Given the description of an element on the screen output the (x, y) to click on. 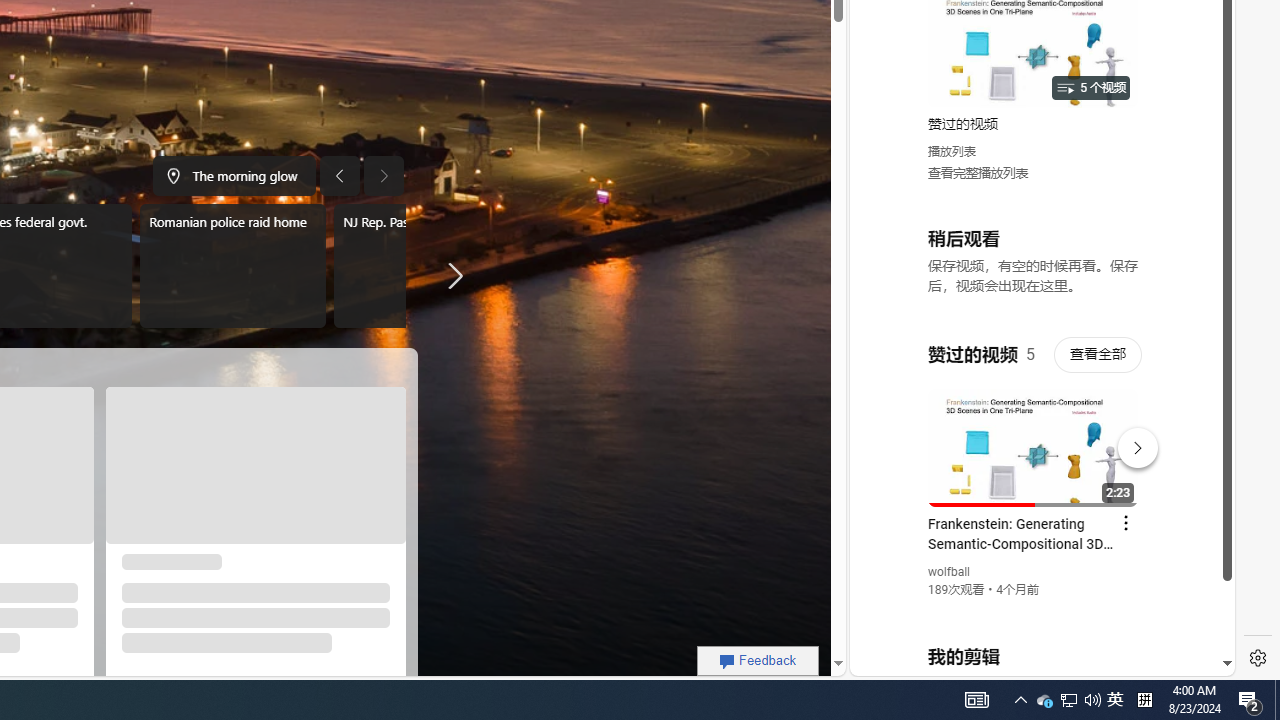
wolfball (949, 572)
US[ju] (917, 660)
Previous image (338, 175)
you (1034, 609)
More news (450, 275)
Romanian police raid home (232, 265)
The morning glow (234, 175)
